Given the description of an element on the screen output the (x, y) to click on. 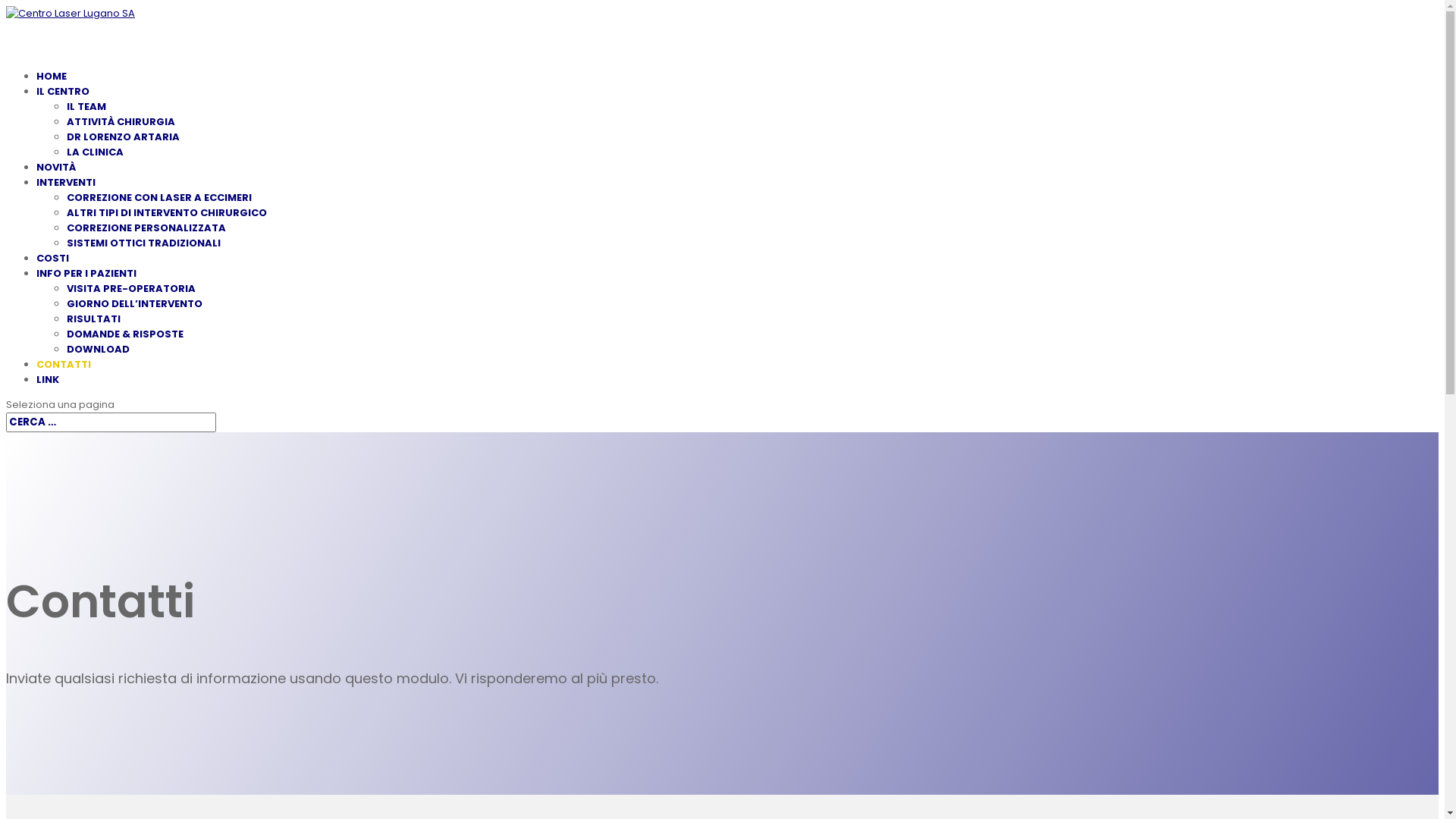
DOMANDE & RISPOSTE Element type: text (124, 333)
VISITA PRE-OPERATORIA Element type: text (130, 288)
CORREZIONE CON LASER A ECCIMERI Element type: text (158, 197)
LINK Element type: text (47, 398)
CORREZIONE PERSONALIZZATA Element type: text (145, 227)
CONTATTI Element type: text (63, 383)
Cerca: Element type: hover (111, 422)
SISTEMI OTTICI TRADIZIONALI Element type: text (143, 242)
ALTRI TIPI DI INTERVENTO CHIRURGICO Element type: text (166, 212)
LA CLINICA Element type: text (94, 151)
INTERVENTI Element type: text (65, 201)
DR LORENZO ARTARIA Element type: text (122, 136)
DOWNLOAD Element type: text (97, 349)
IL TEAM Element type: text (86, 106)
RISULTATI Element type: text (93, 318)
IL CENTRO Element type: text (62, 110)
INFO PER I PAZIENTI Element type: text (86, 292)
HOME Element type: text (51, 95)
COSTI Element type: text (52, 277)
